Given the description of an element on the screen output the (x, y) to click on. 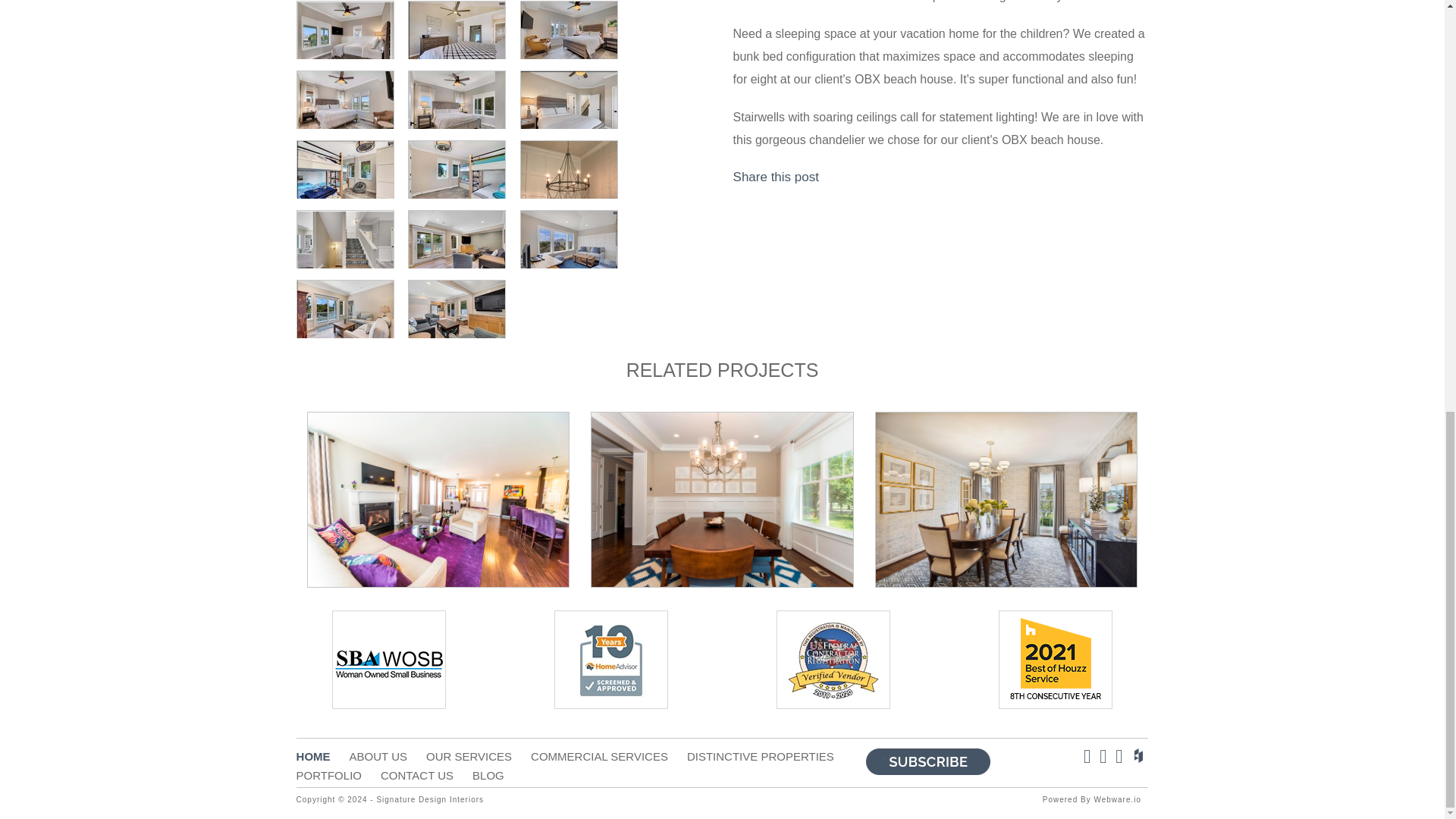
HOME (323, 755)
